Given the description of an element on the screen output the (x, y) to click on. 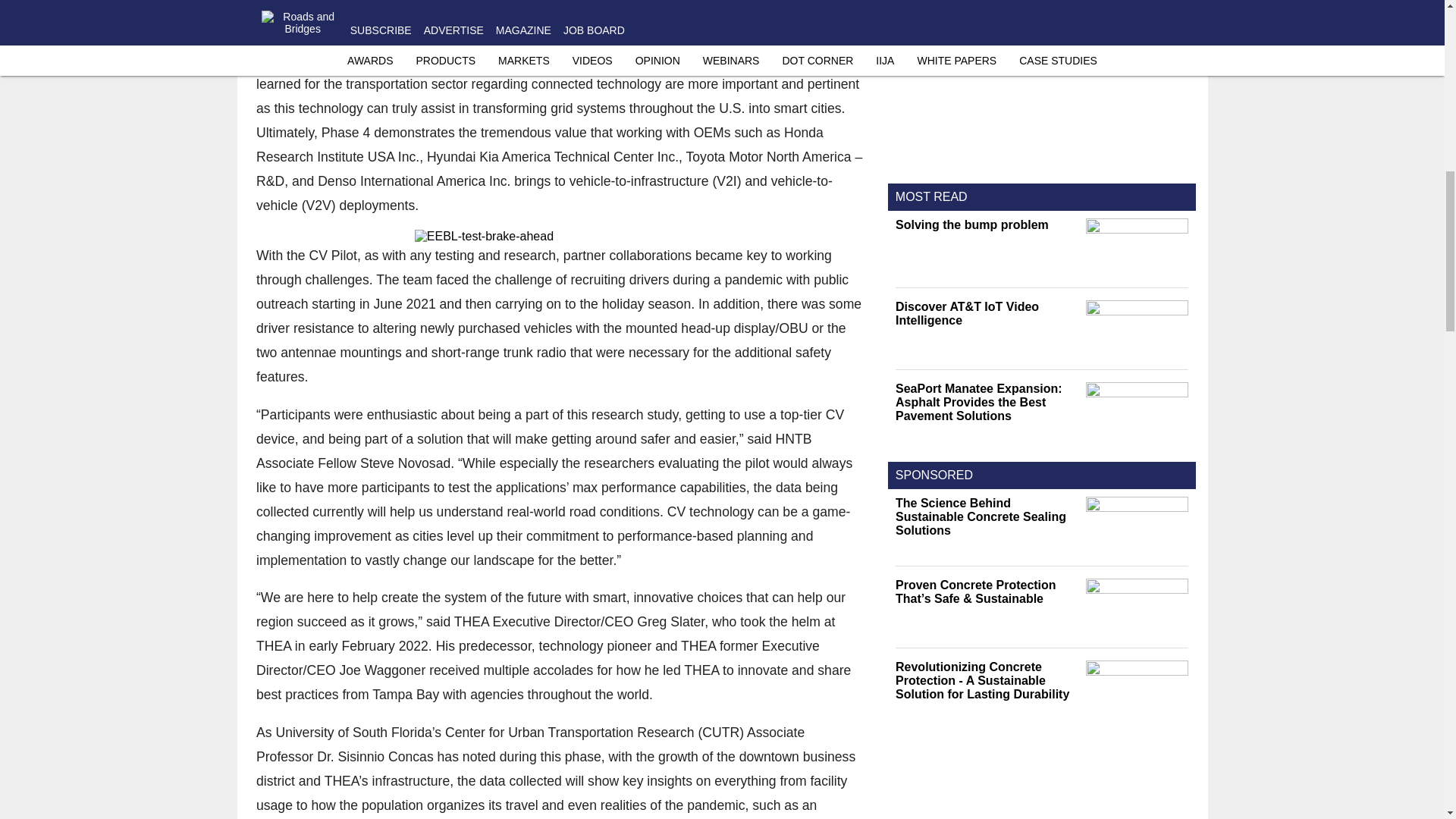
Solving the bump problem (986, 224)
EEBL-test-brake-ahead (559, 236)
